Given the description of an element on the screen output the (x, y) to click on. 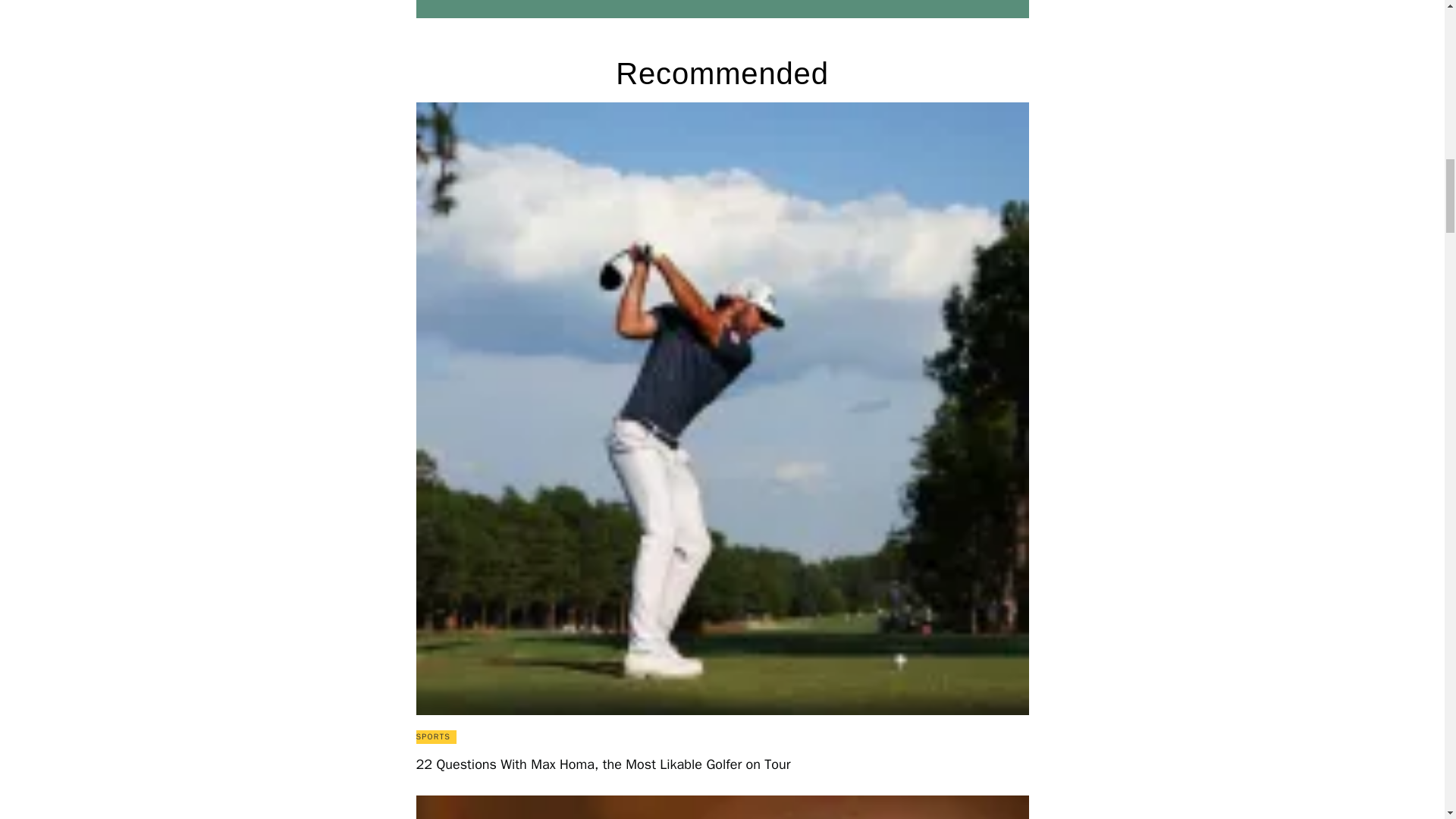
SPORTS (431, 737)
22 Questions With Max Homa, the Most Likable Golfer on Tour (720, 764)
